Given the description of an element on the screen output the (x, y) to click on. 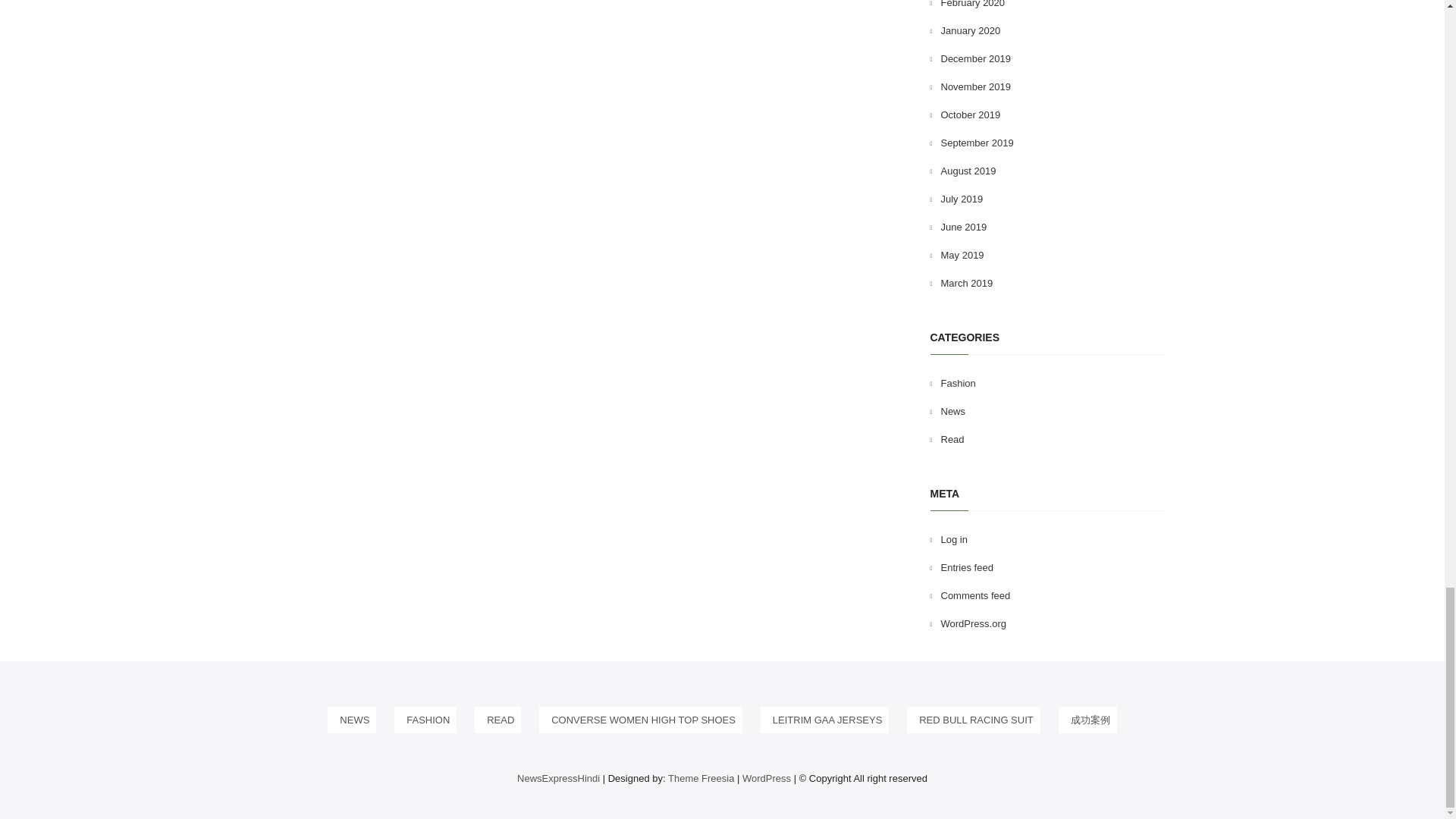
NewsExpressHindi (557, 778)
WordPress (766, 778)
Theme Freesia (700, 778)
